Given the description of an element on the screen output the (x, y) to click on. 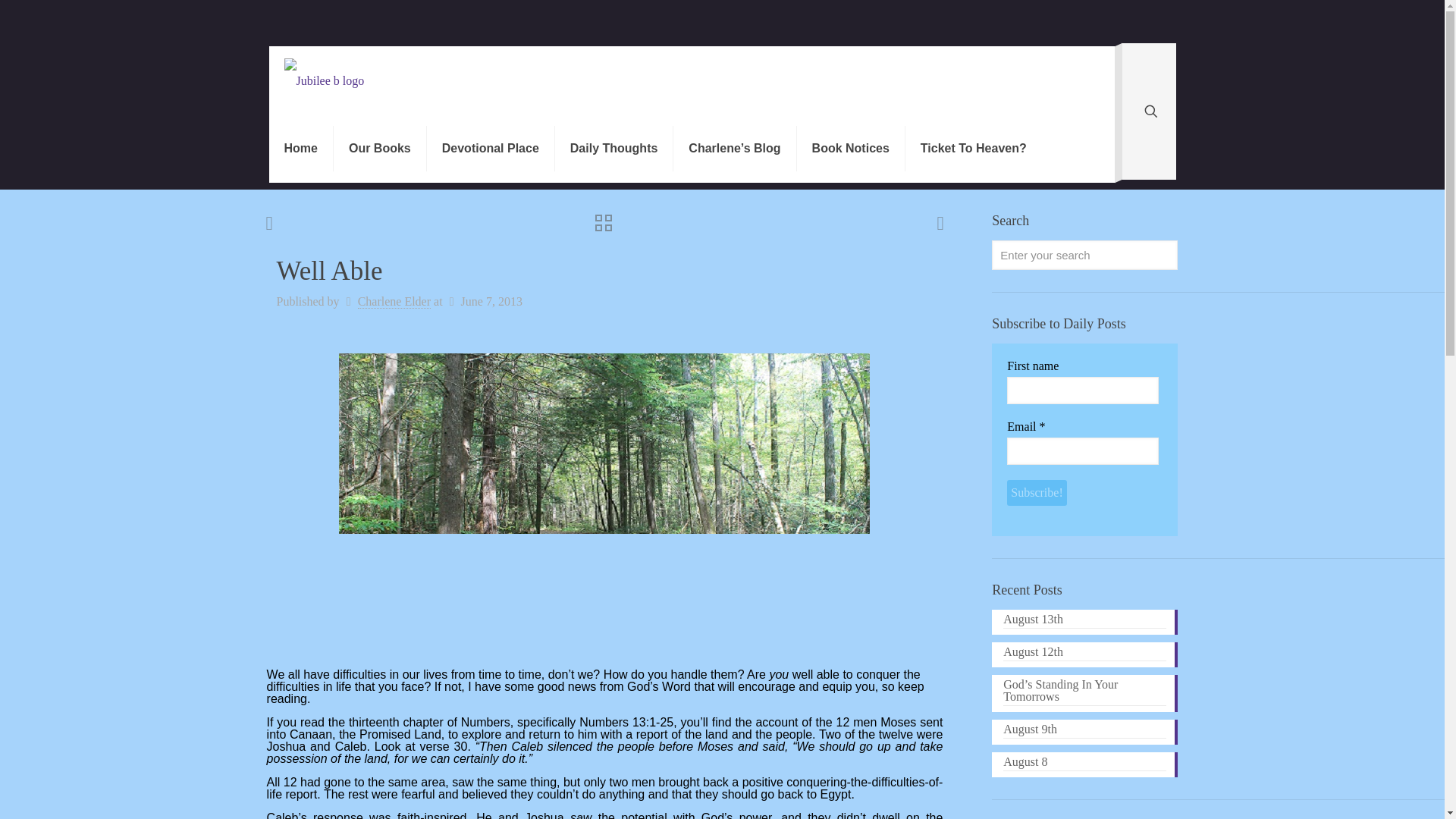
Subscribe! (1036, 492)
Subscribe! (1036, 492)
Jubilee Online Church (323, 79)
August 13th (1084, 620)
Email (1082, 451)
Charlene Elder (394, 301)
Home (300, 148)
Devotional Place (490, 148)
August 12th (1084, 653)
Our Books (379, 148)
